Given the description of an element on the screen output the (x, y) to click on. 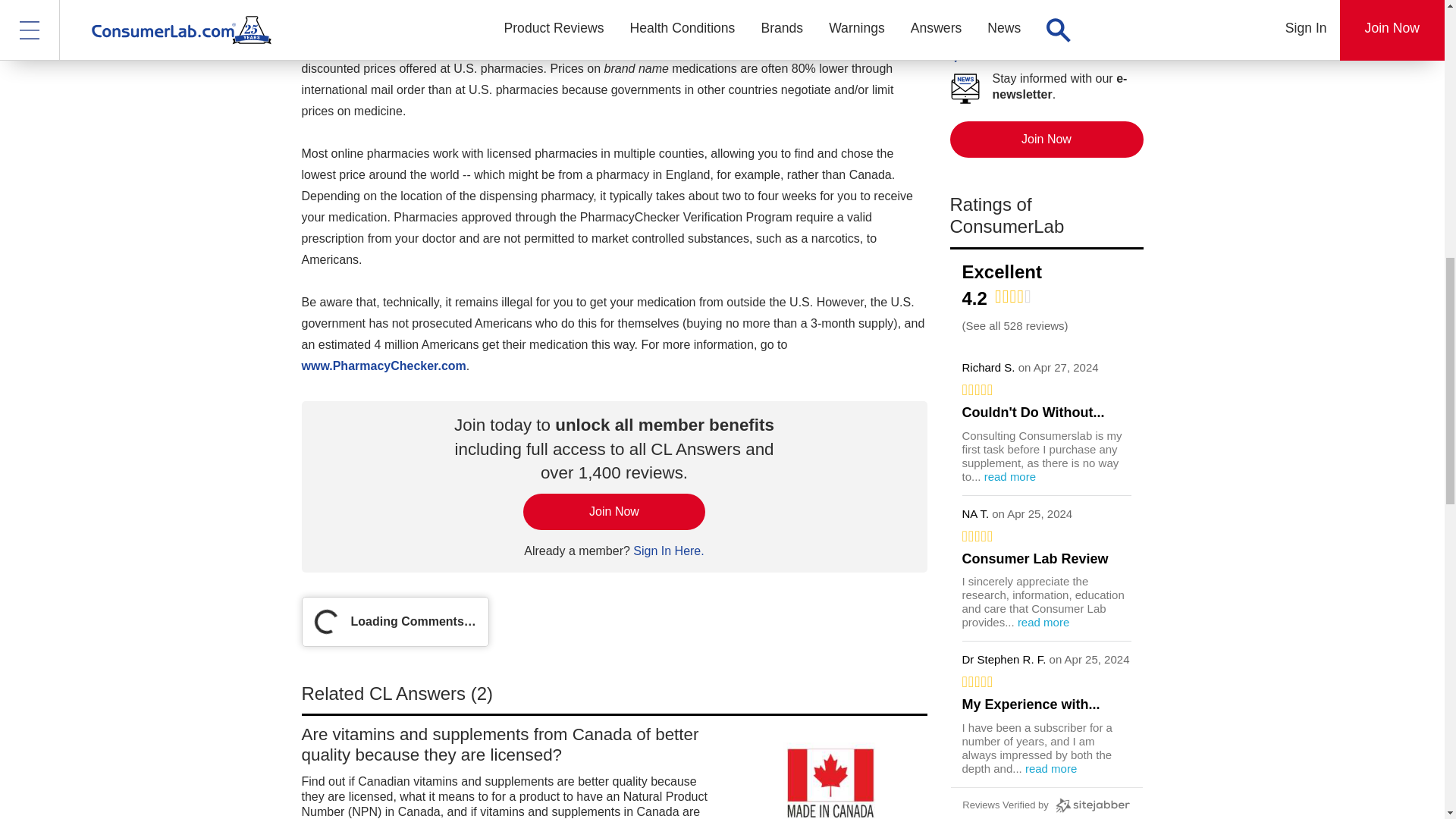
5.0 star rating (1045, 681)
5.0 star rating (1045, 535)
5.0 star rating (1045, 389)
4.2 star rating (1013, 296)
4.2 star rating (1013, 300)
